Given the description of an element on the screen output the (x, y) to click on. 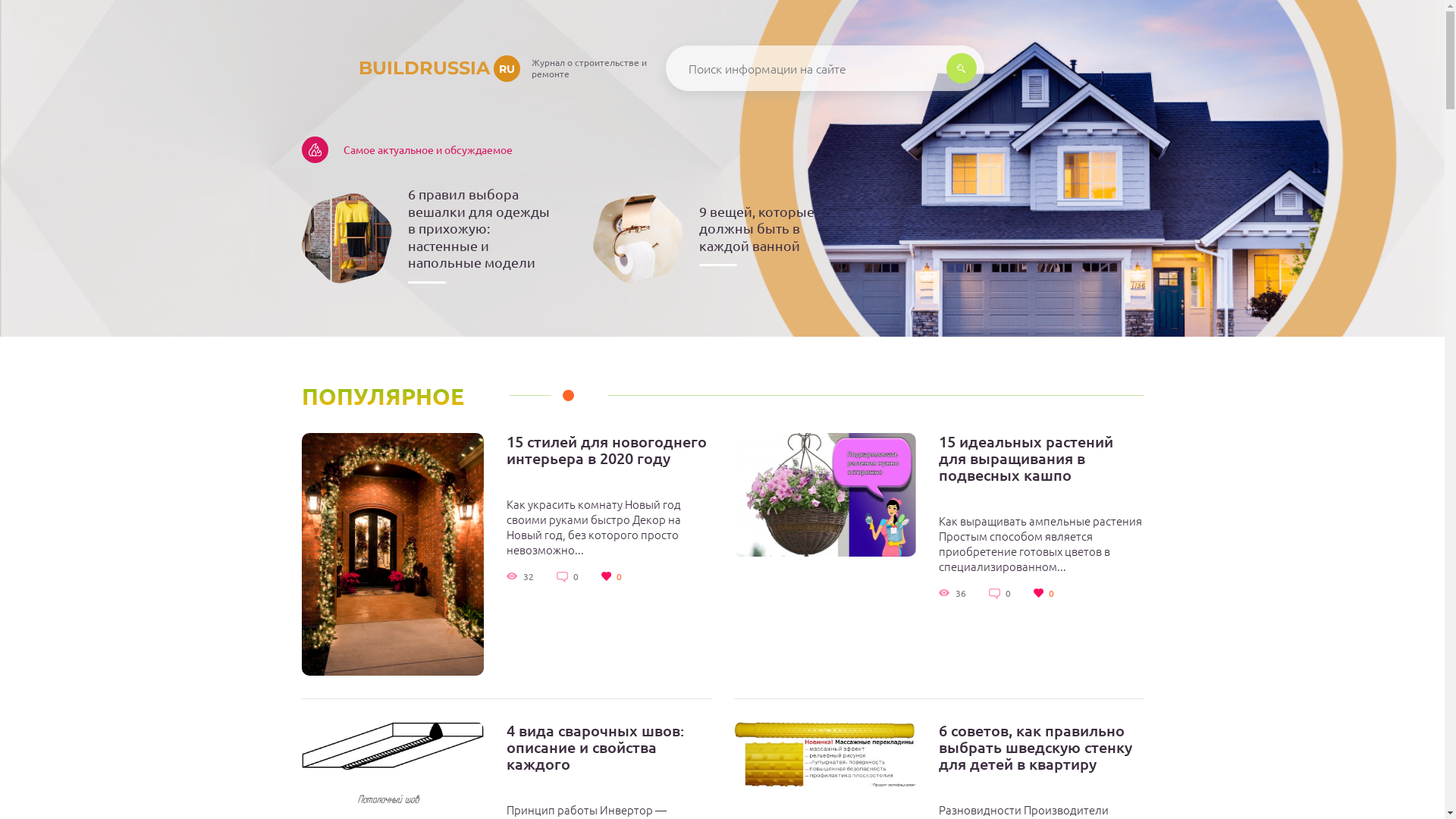
BUILDRUSSIA
RU Element type: text (410, 68)
